Given the description of an element on the screen output the (x, y) to click on. 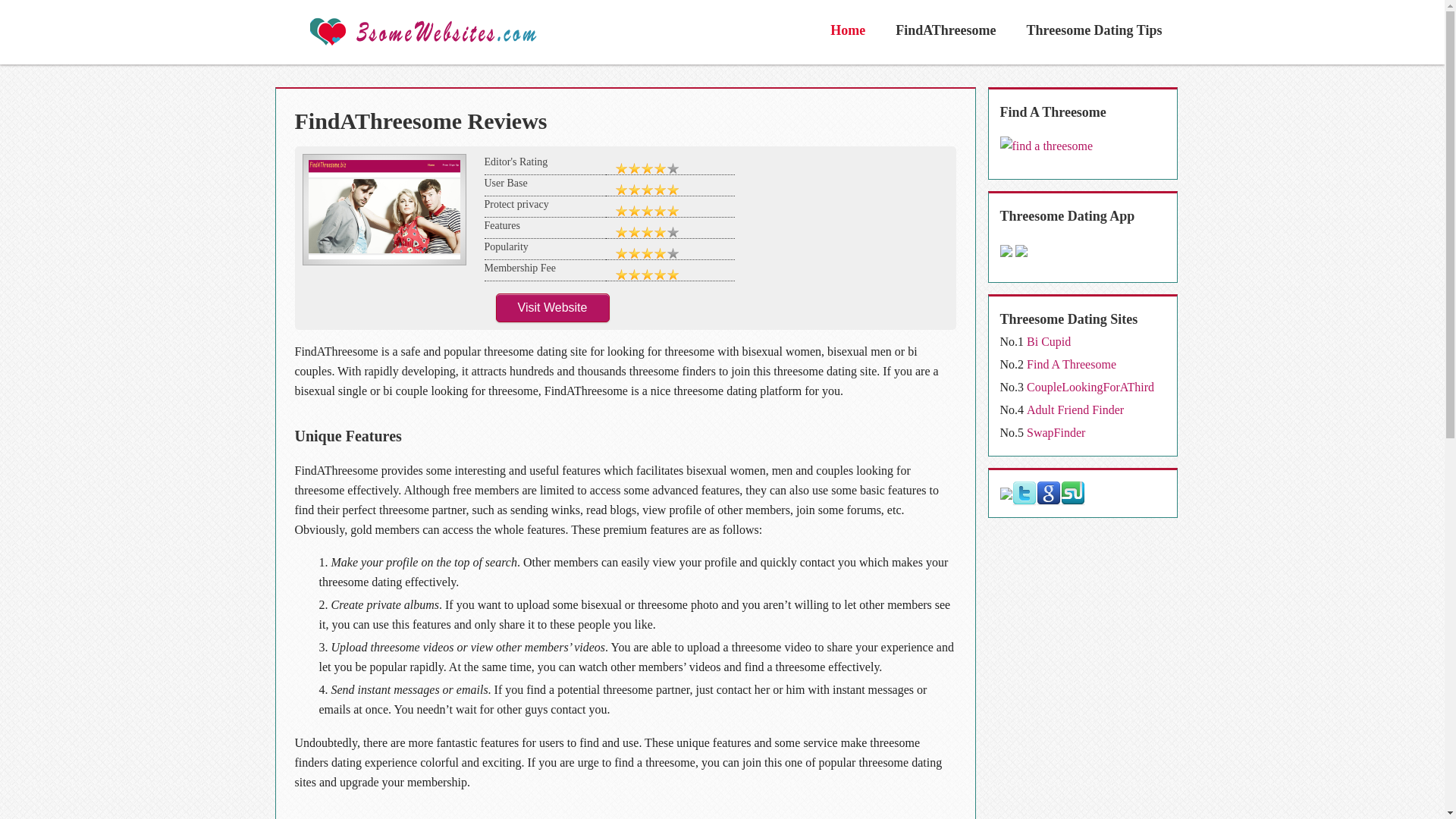
Adult Friend Finder Element type: text (1074, 409)
Find A Threesome Element type: text (1071, 363)
Visit Website Element type: text (552, 307)
Home Element type: text (847, 29)
FindAThreesome Element type: text (945, 29)
CoupleLookingForAThird Element type: text (1090, 386)
Bi Cupid Element type: text (1048, 341)
3some Websites Element type: text (462, 32)
Threesome Dating Tips Element type: text (1093, 29)
SwapFinder Element type: text (1055, 432)
